Given the description of an element on the screen output the (x, y) to click on. 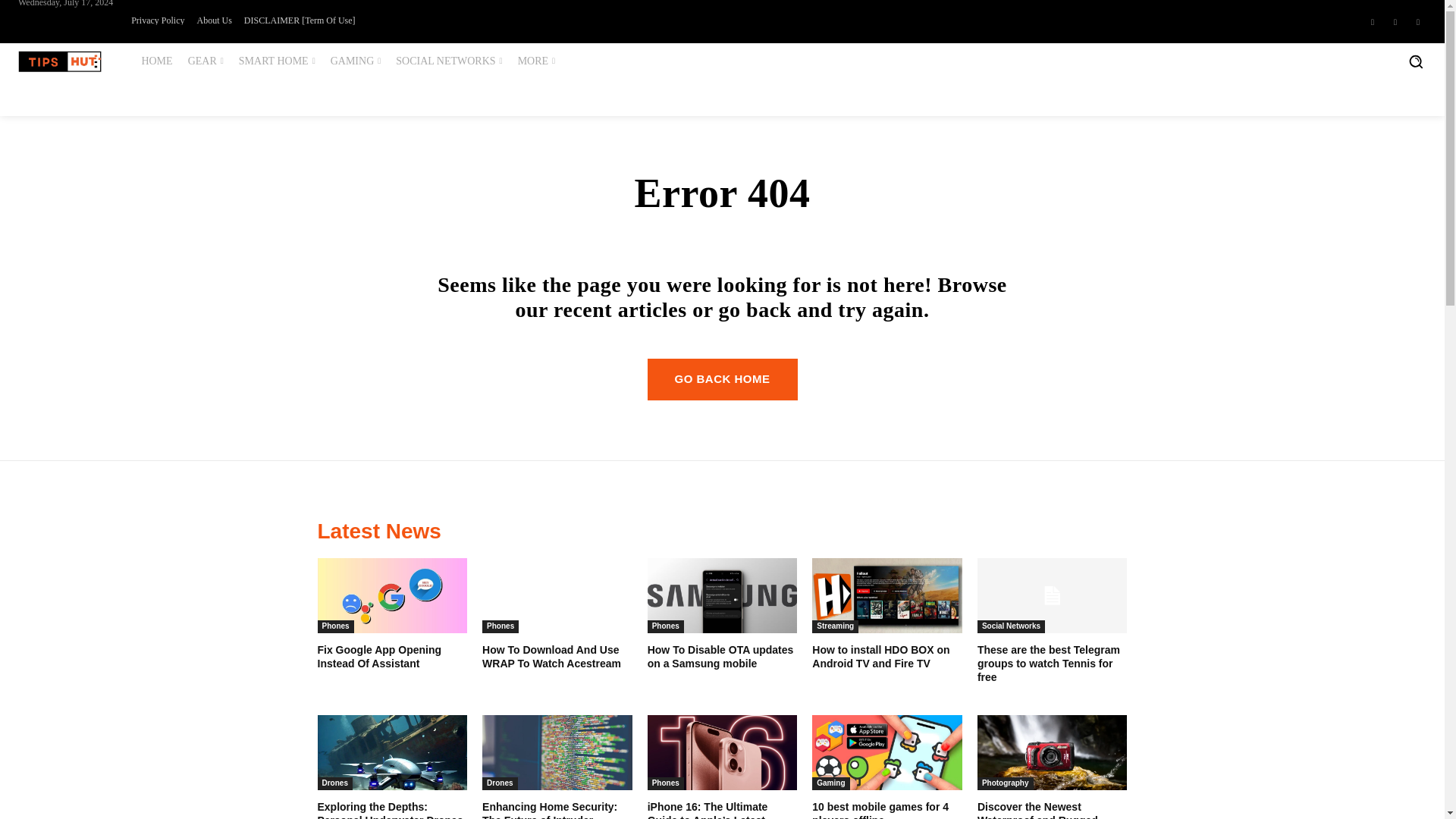
About Us (213, 20)
Twitter (1417, 21)
Privacy Policy (157, 20)
HOME (156, 61)
GEAR (205, 61)
Instagram (1395, 21)
Facebook (1372, 21)
